Given the description of an element on the screen output the (x, y) to click on. 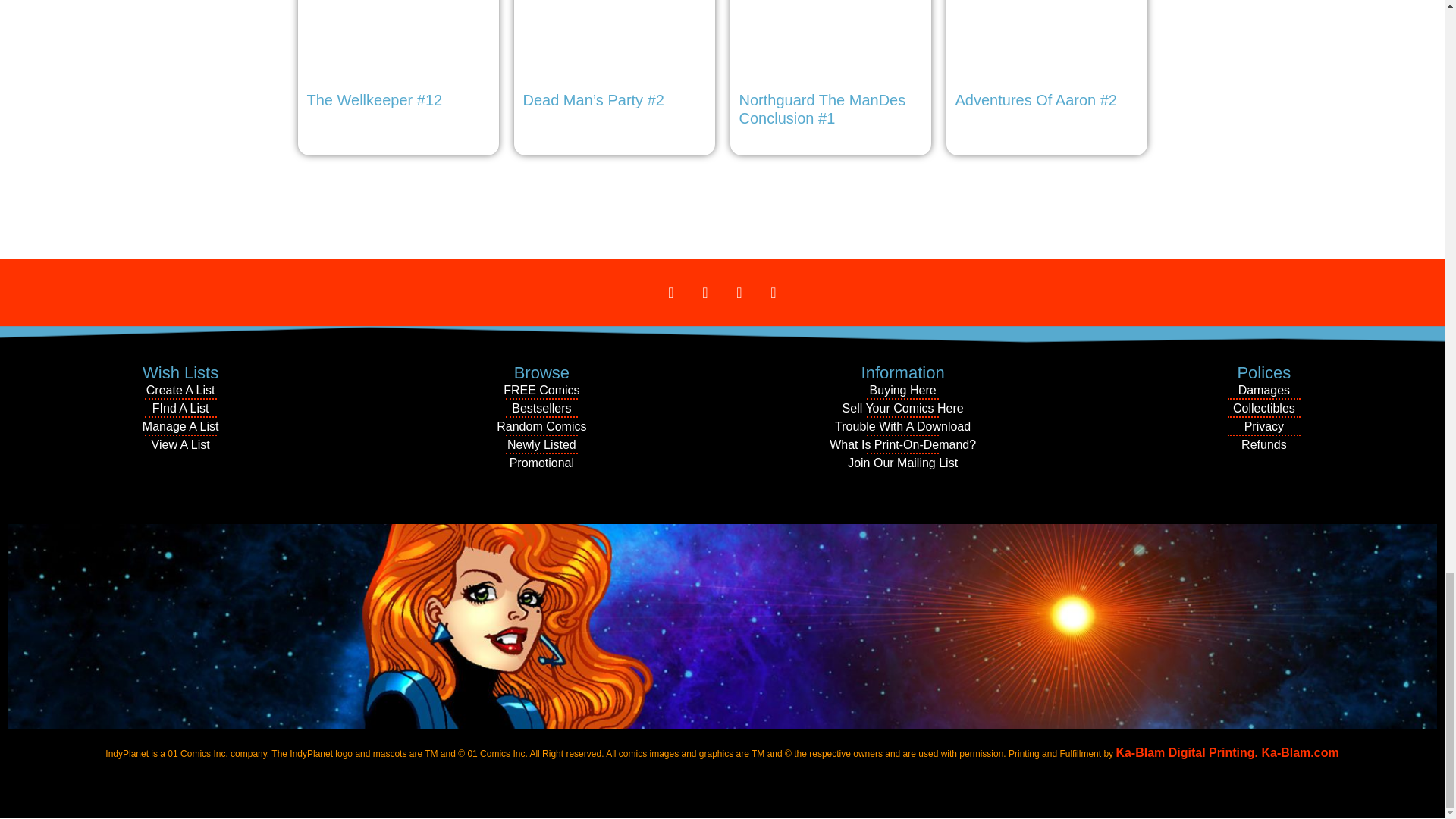
Create A List (180, 390)
